Given the description of an element on the screen output the (x, y) to click on. 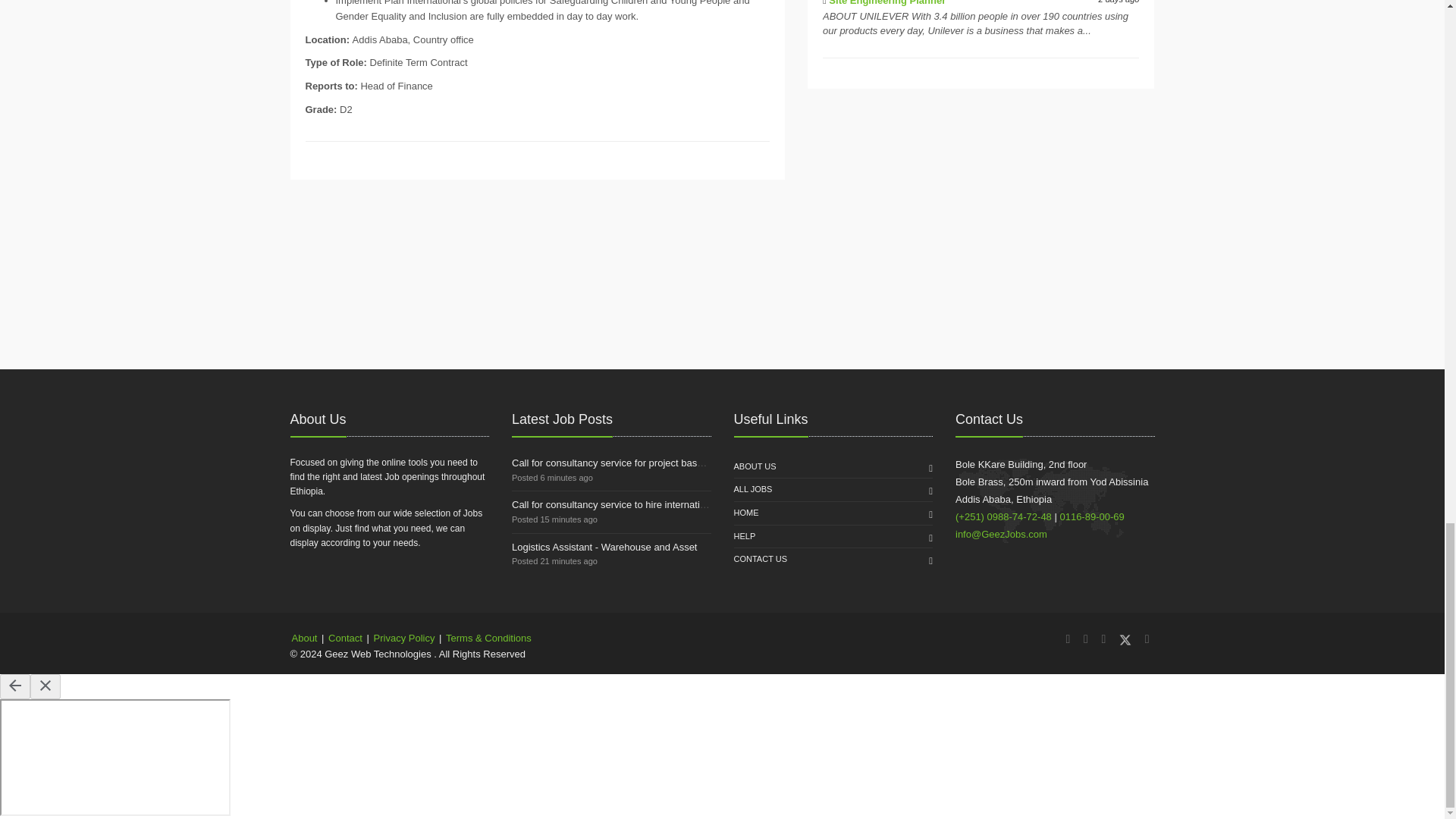
Site Engineering Planner (886, 2)
Advertisement (981, 202)
